Given the description of an element on the screen output the (x, y) to click on. 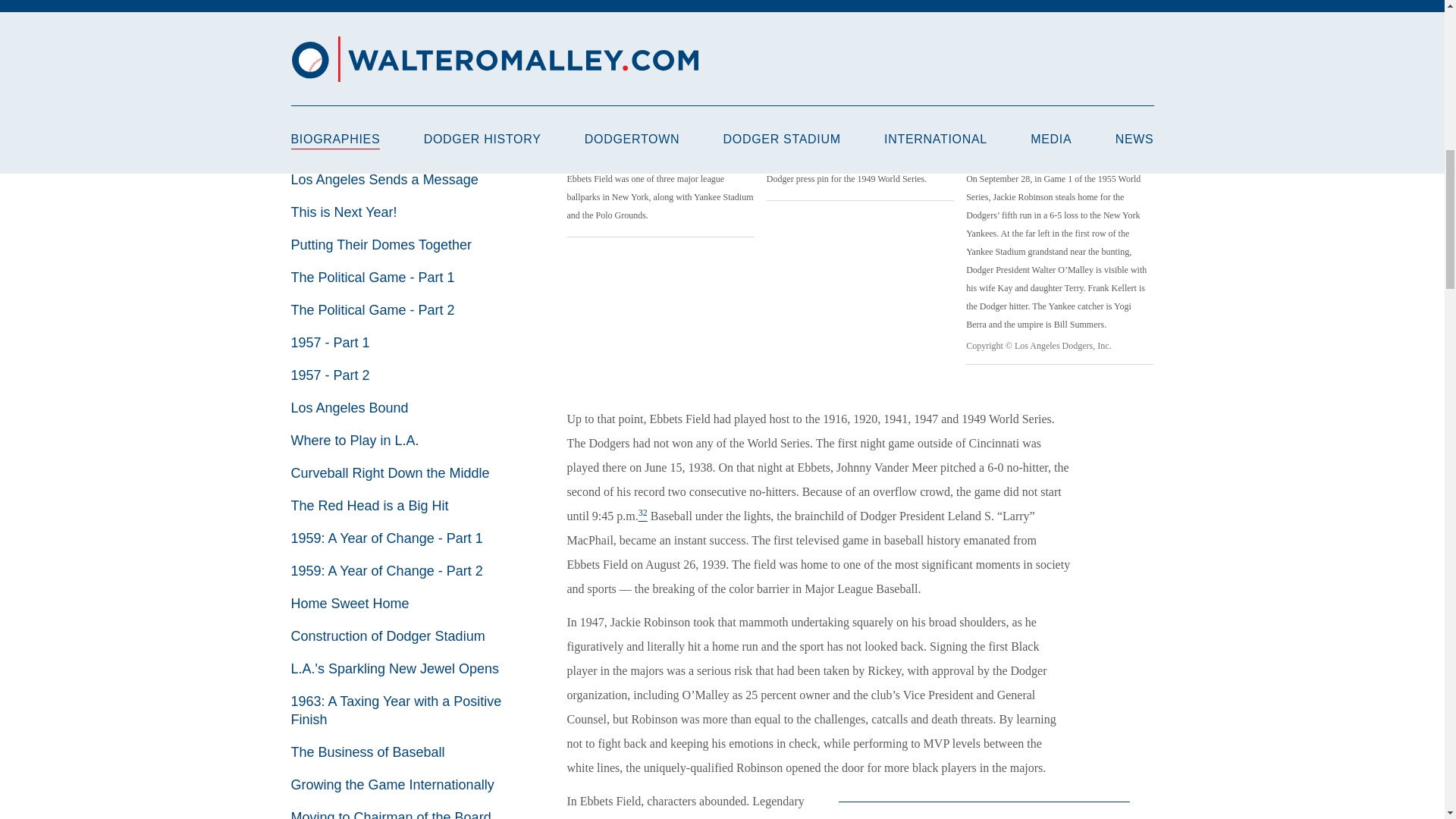
Construction of Dodger Stadium (387, 635)
A New Era Begins (346, 48)
This is Next Year! (344, 212)
1957 - Part 2 (330, 375)
The Political Game - Part 1 (372, 277)
The Dodger Saga (344, 16)
Home Sweet Home (350, 603)
1957 - Part 1 (330, 342)
The Political Game - Part 2 (372, 309)
Ebbets Field Revisited (358, 82)
Searching for New Stadium Answers (401, 146)
The Business of Baseball (368, 752)
1959: A Year of Change - Part 2 (387, 570)
Putting Their Domes Together (381, 244)
L.A.'s Sparkling New Jewel Opens (395, 668)
